Given the description of an element on the screen output the (x, y) to click on. 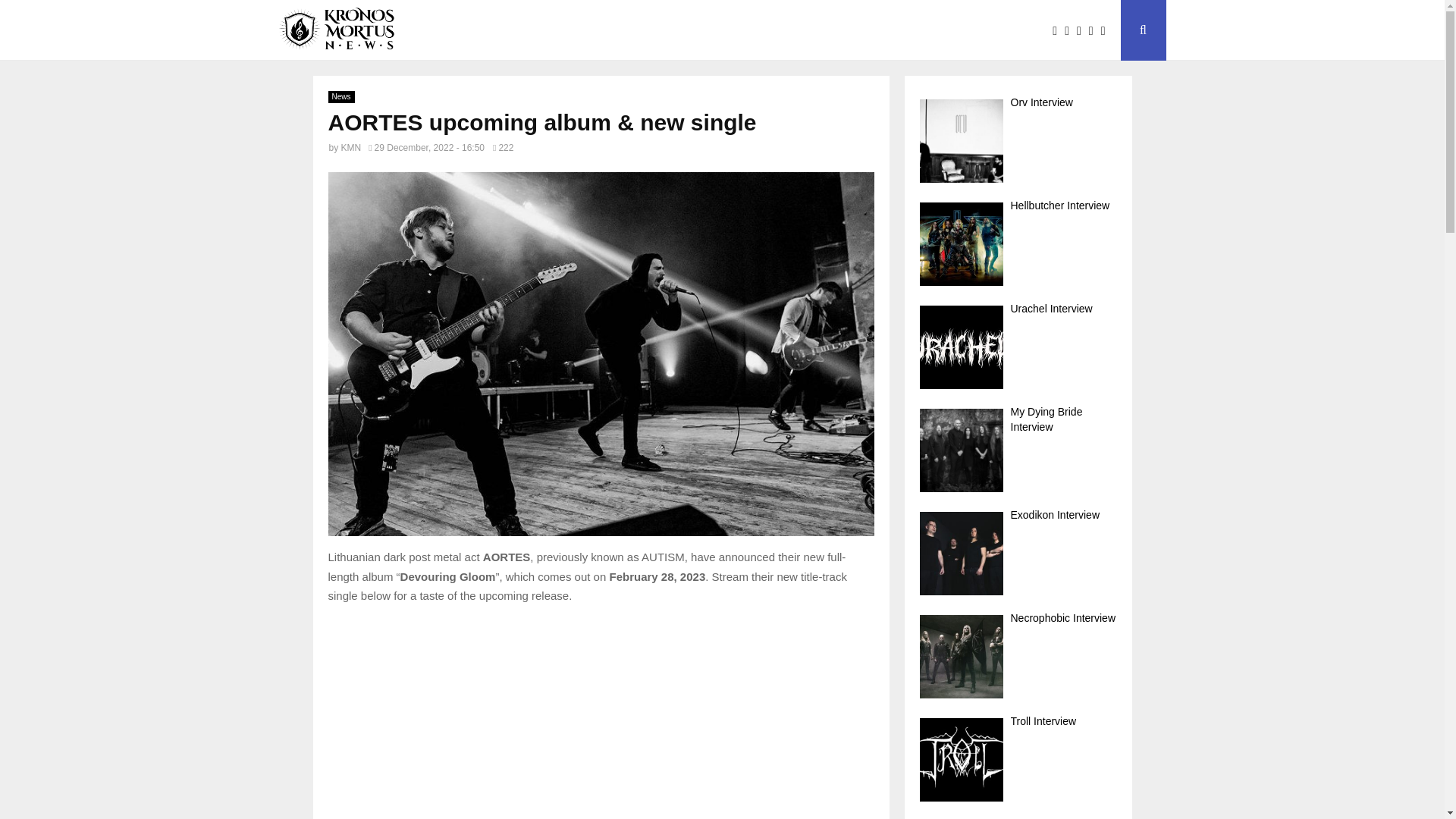
NEWS (465, 30)
PREMIERES (641, 30)
Orv Interview (1017, 140)
Hellbutcher Interview (1017, 244)
FEEDBACK (733, 30)
Aortes - Devouring Gloom (600, 719)
KMN (350, 147)
News (340, 96)
INTERVIEWS (545, 30)
